Given the description of an element on the screen output the (x, y) to click on. 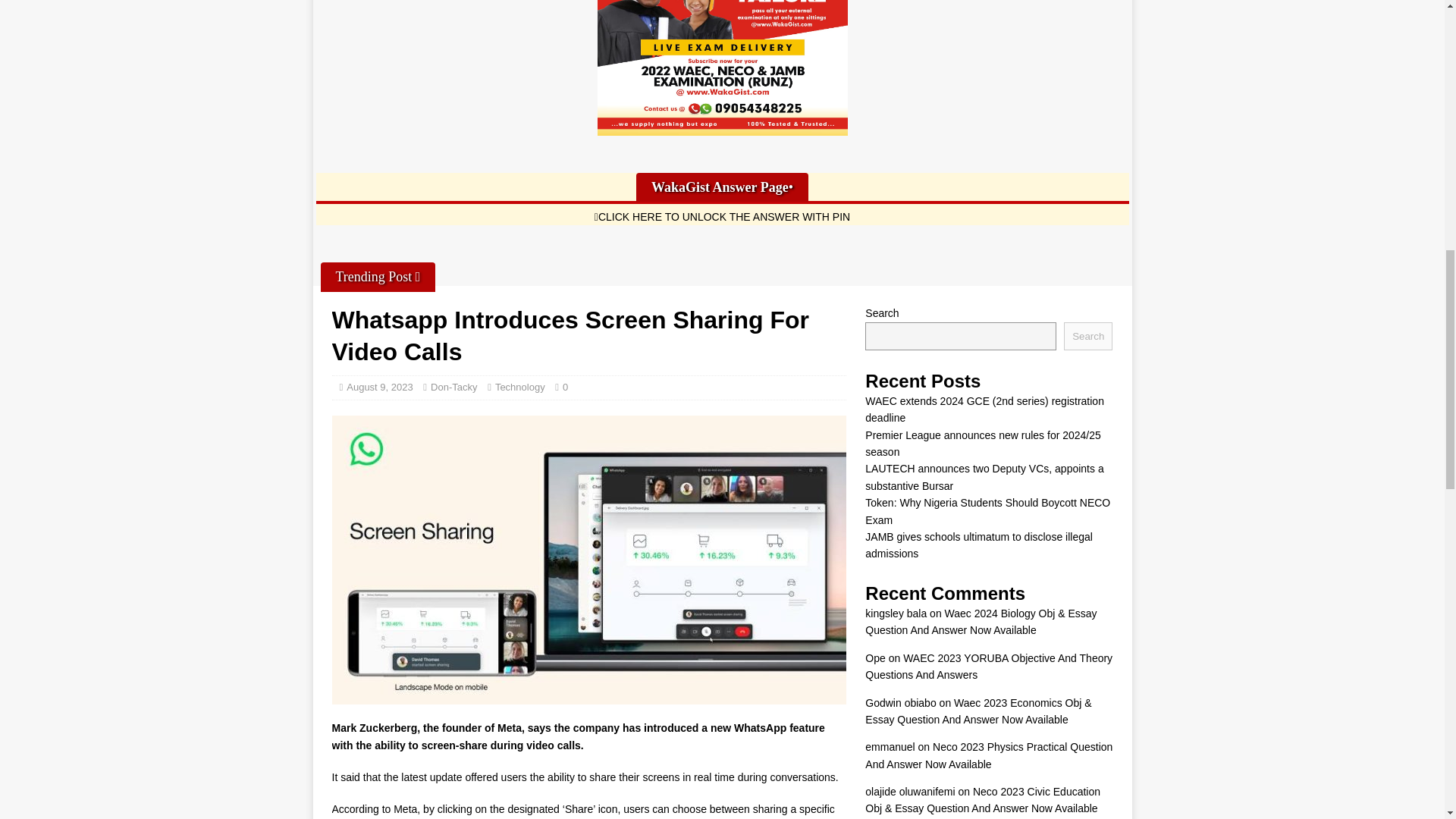
JAMB gives schools ultimatum to disclose illegal admissions (978, 544)
Search (1088, 335)
Technology (519, 387)
wakagist (721, 67)
August 9, 2023 (379, 387)
Token: Why Nigeria Students Should Boycott NECO Exam (986, 510)
kingsley bala (895, 613)
Don-Tacky (453, 387)
